Given the description of an element on the screen output the (x, y) to click on. 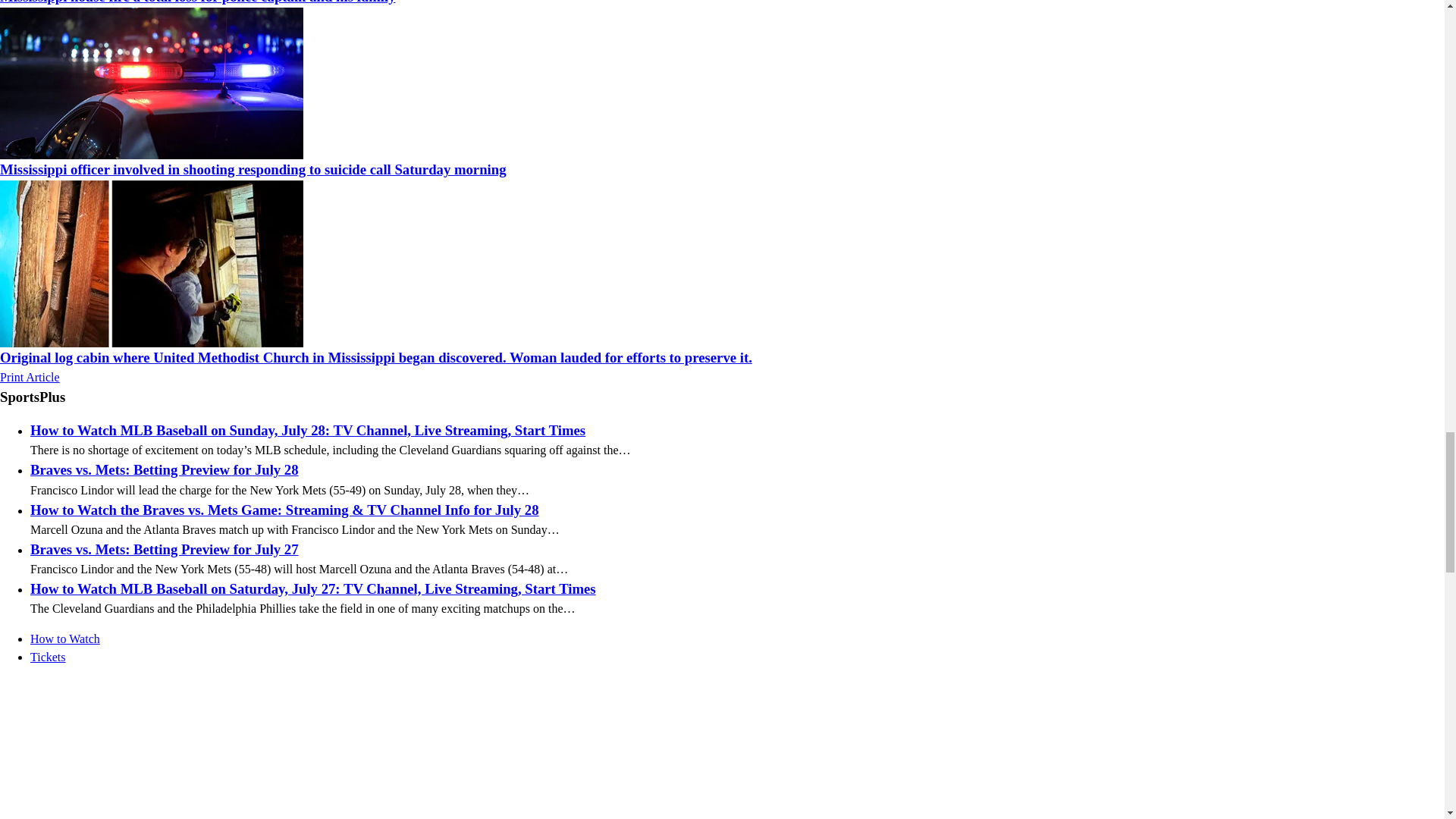
Print Article (29, 377)
Braves vs. Mets: Betting Preview for July 28 (164, 469)
Braves vs. Mets: Betting Preview for July 27 (164, 549)
How to Watch (65, 638)
Tickets (47, 656)
